Given the description of an element on the screen output the (x, y) to click on. 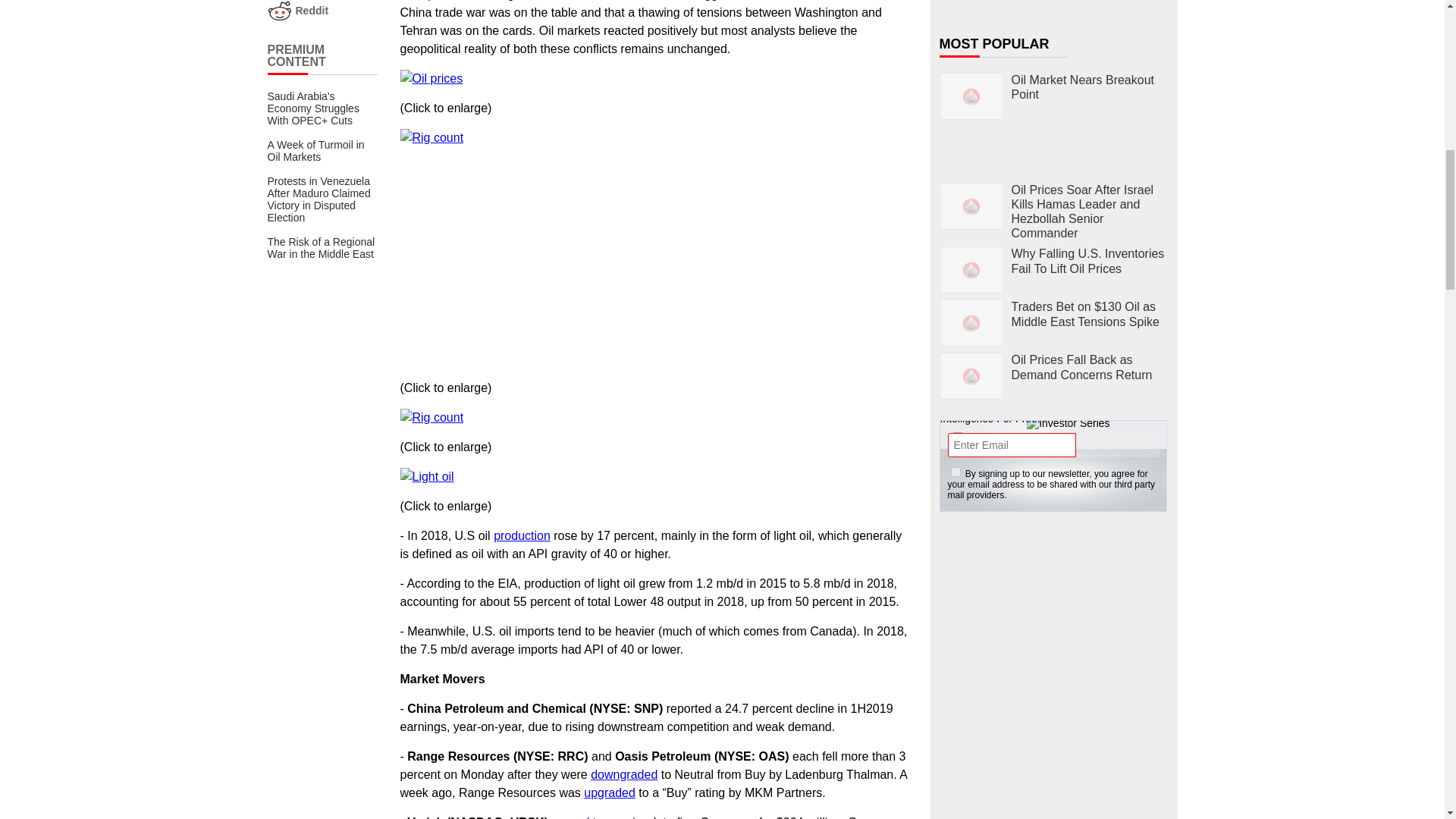
Rig count (432, 417)
1 (955, 471)
Light oil (427, 476)
Rig count (432, 137)
Oil prices (431, 78)
